Given the description of an element on the screen output the (x, y) to click on. 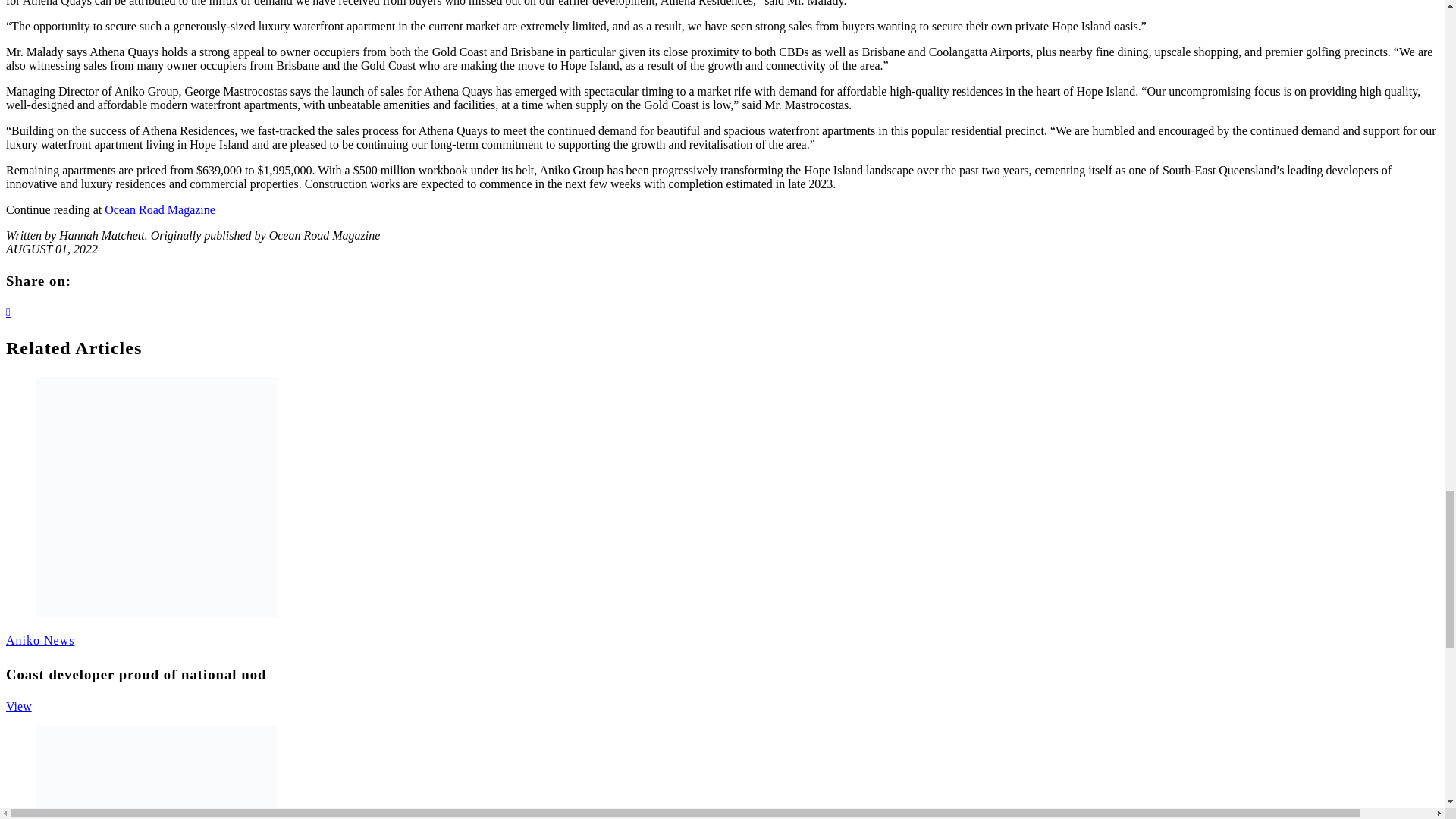
Aniko News (39, 640)
View (18, 706)
Ocean Road Magazine (159, 209)
